Given the description of an element on the screen output the (x, y) to click on. 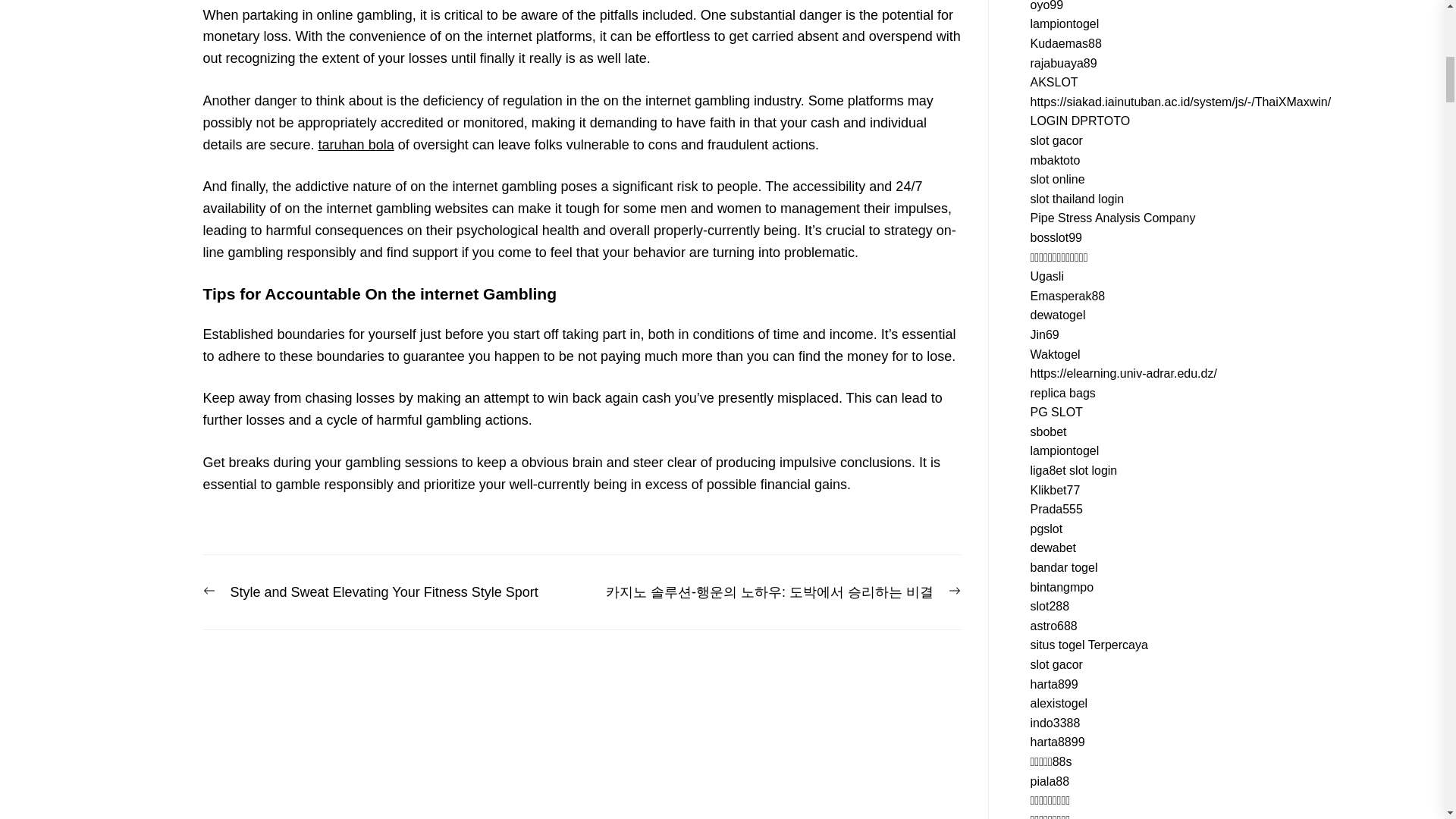
taruhan bola (356, 144)
